Given the description of an element on the screen output the (x, y) to click on. 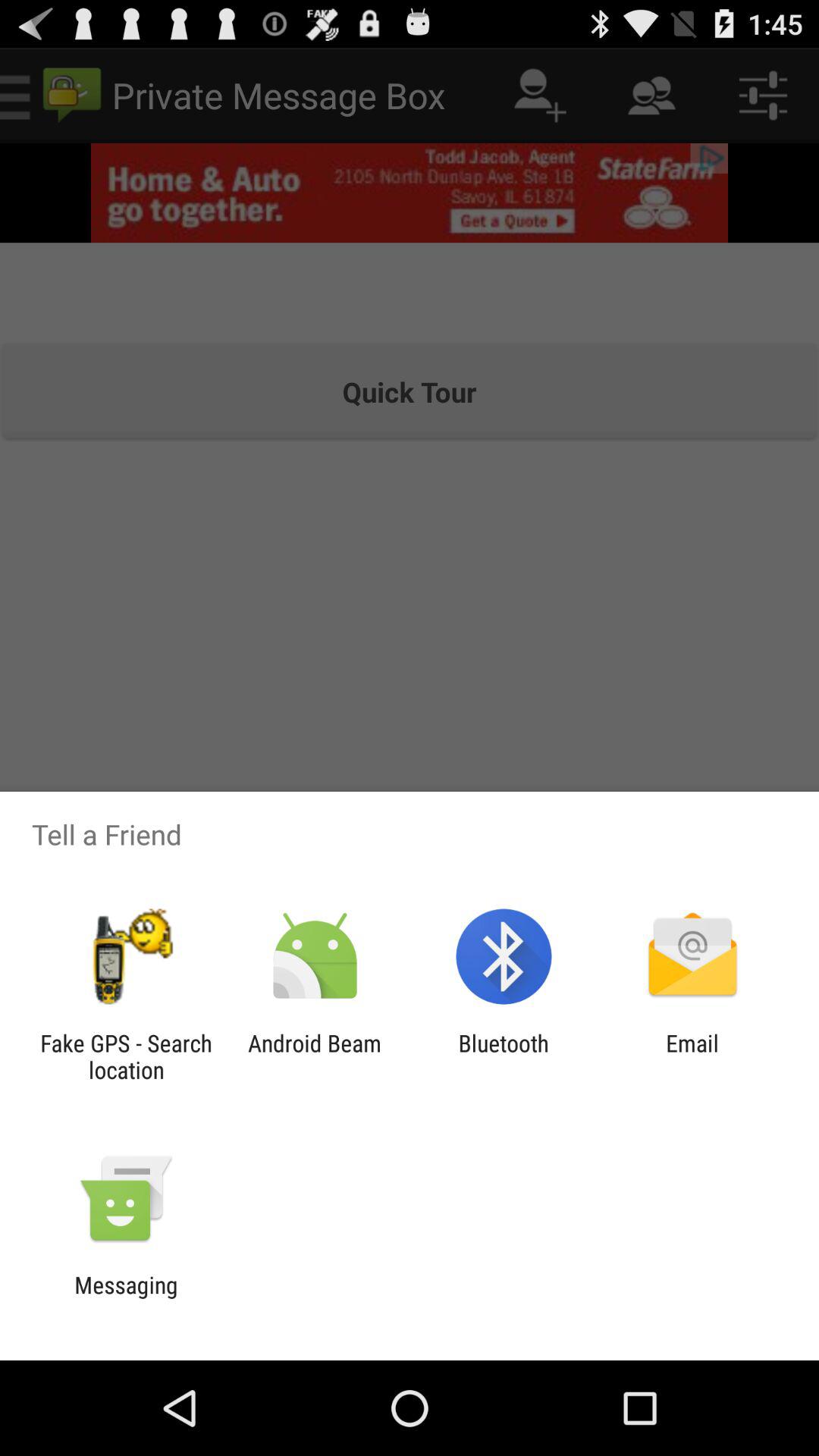
press the app to the right of the fake gps search icon (314, 1056)
